Given the description of an element on the screen output the (x, y) to click on. 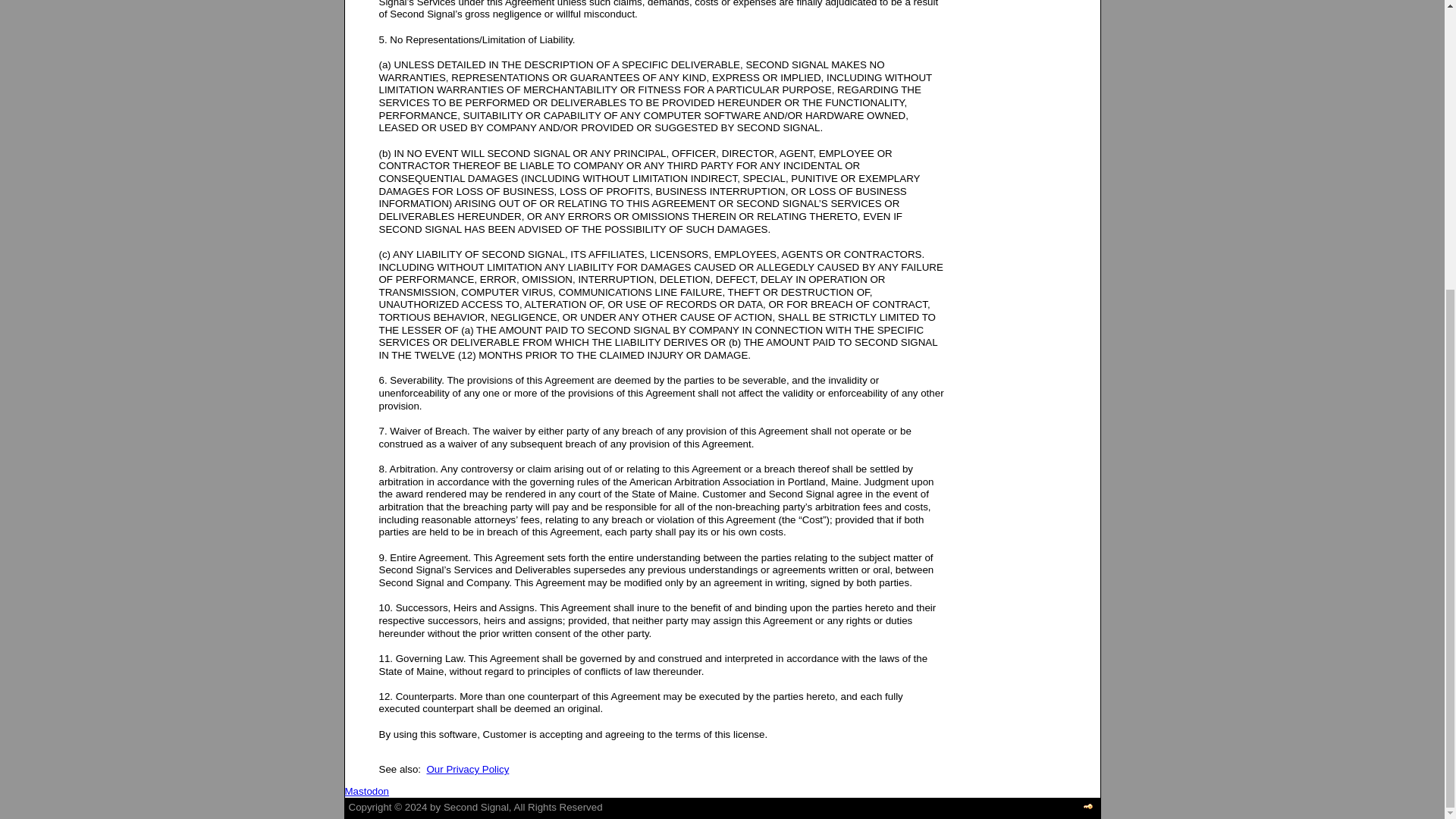
Mastodon (365, 790)
Our Privacy Policy (467, 768)
